Given the description of an element on the screen output the (x, y) to click on. 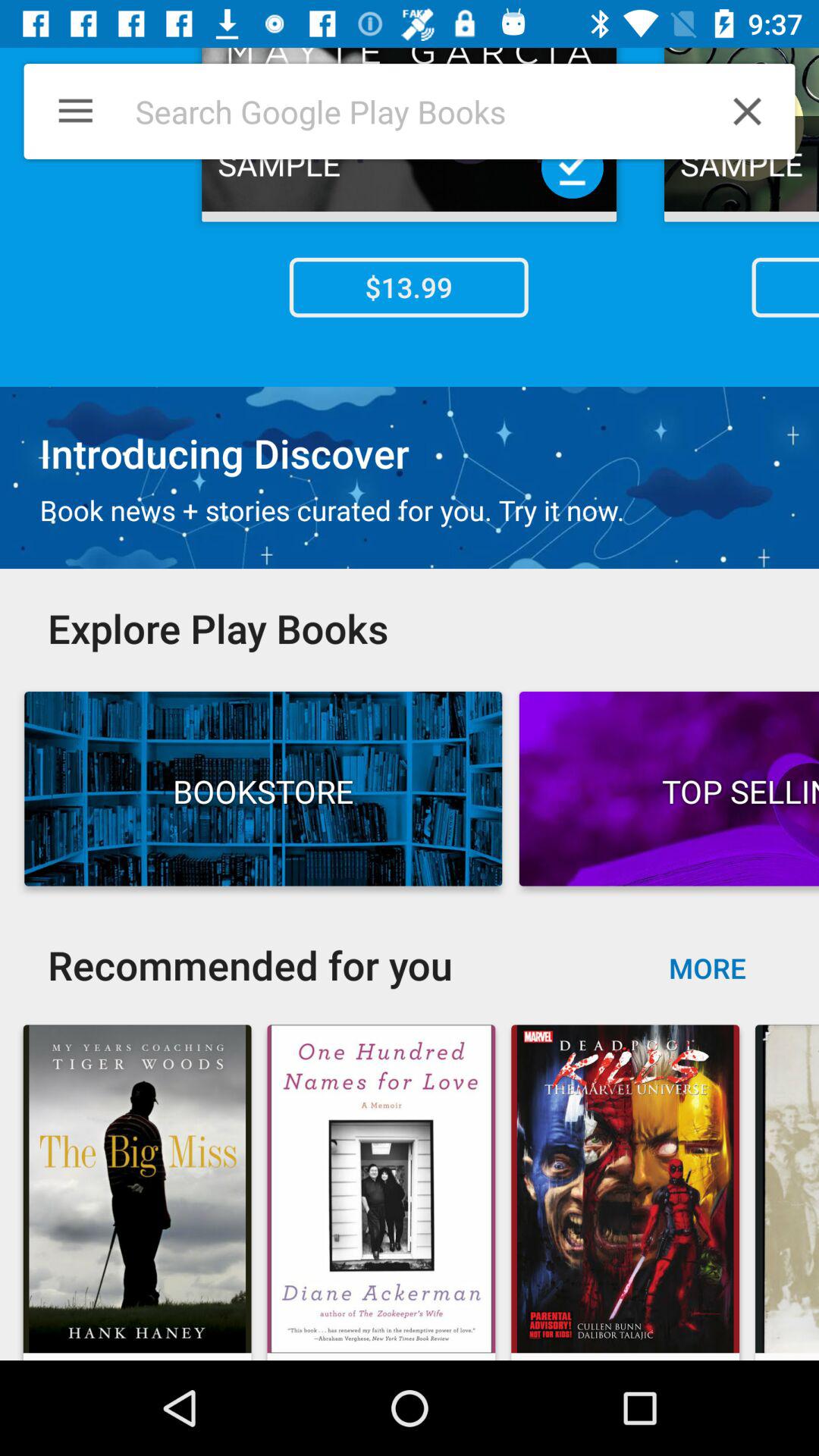
select the image below the button more on the web page (625, 1188)
click on the button which is left side of top sellin (263, 788)
click on the menu button at top right corner of the page (64, 111)
